Given the description of an element on the screen output the (x, y) to click on. 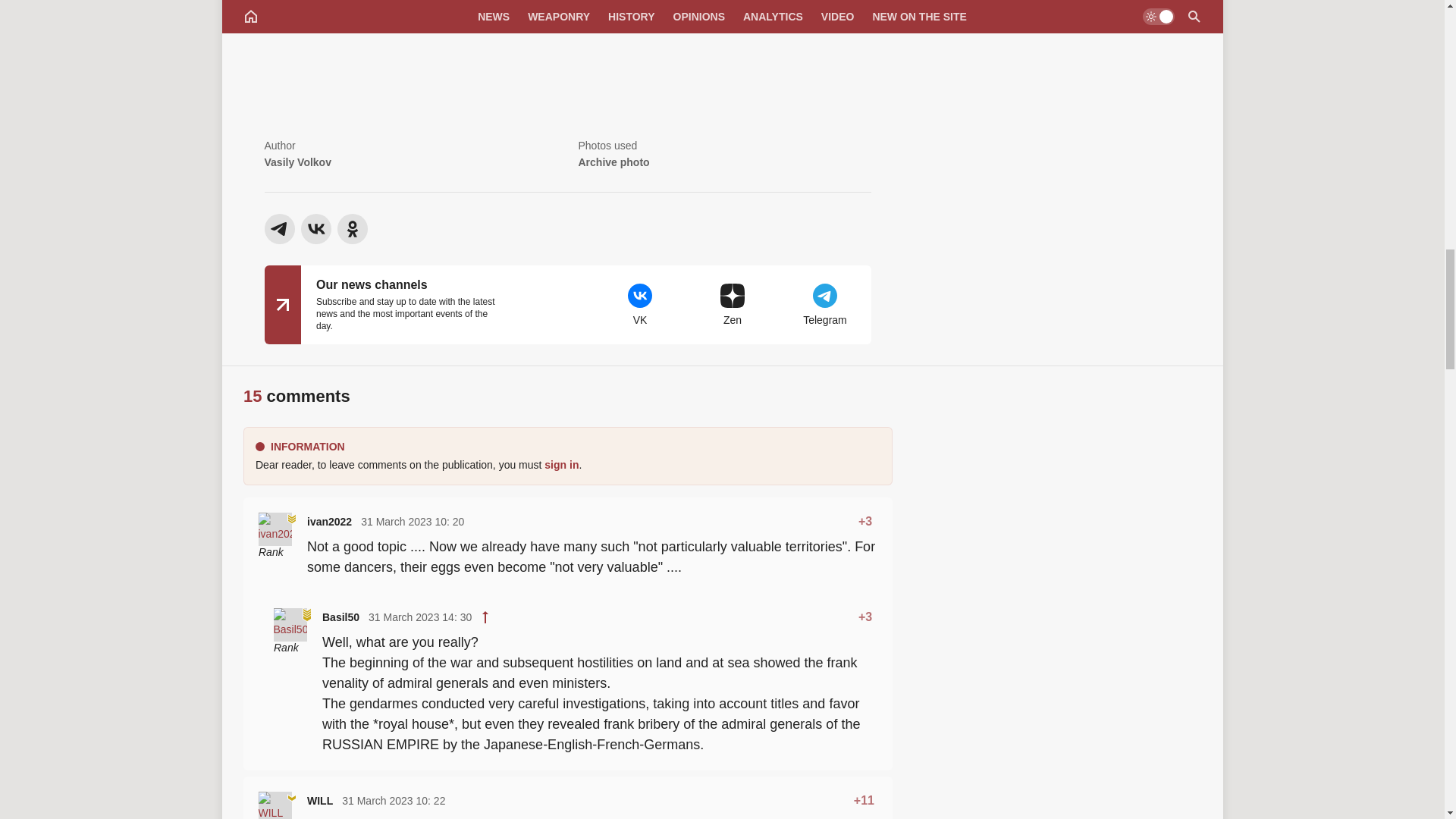
Share on Telegram (278, 228)
Author (409, 154)
Photos used (724, 154)
